Given the description of an element on the screen output the (x, y) to click on. 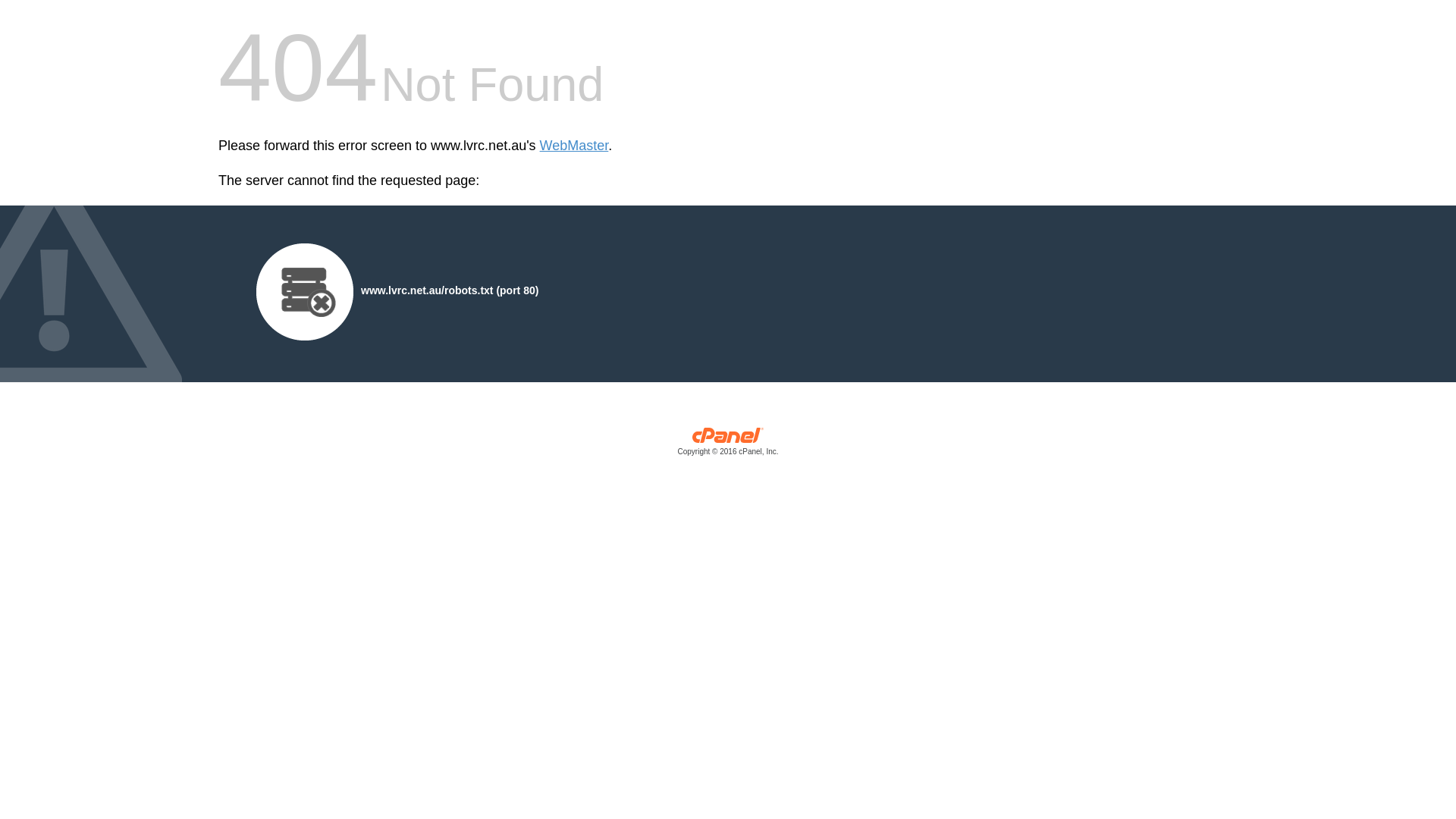
WebMaster Element type: text (573, 145)
